Given the description of an element on the screen output the (x, y) to click on. 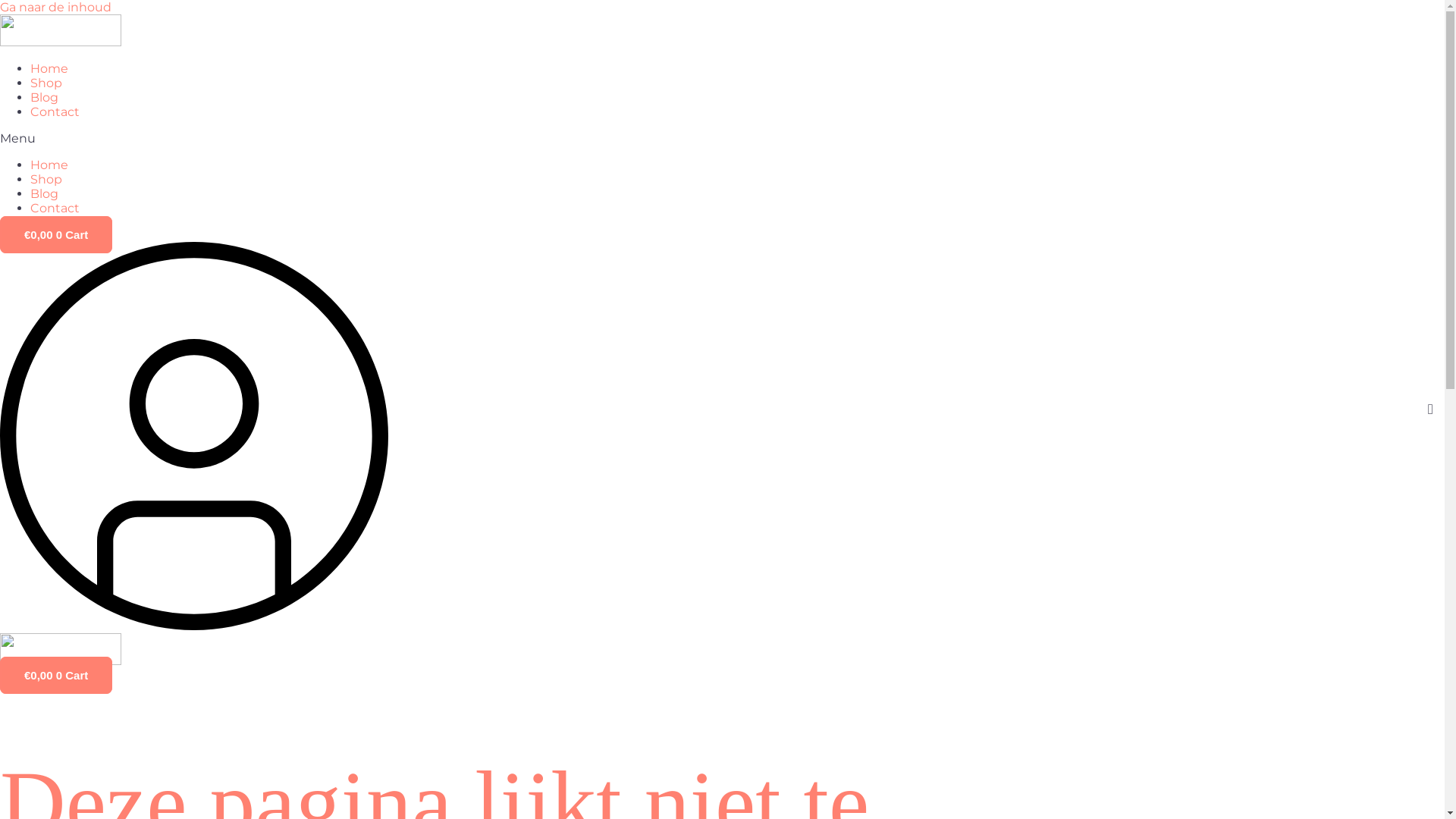
Blog Element type: text (44, 193)
Blog Element type: text (44, 97)
Home Element type: text (49, 68)
Home Element type: text (49, 164)
Contact Element type: text (54, 207)
Ga naar de inhoud Element type: text (55, 7)
Contact Element type: text (54, 111)
Shop Element type: text (46, 179)
Shop Element type: text (46, 82)
